Given the description of an element on the screen output the (x, y) to click on. 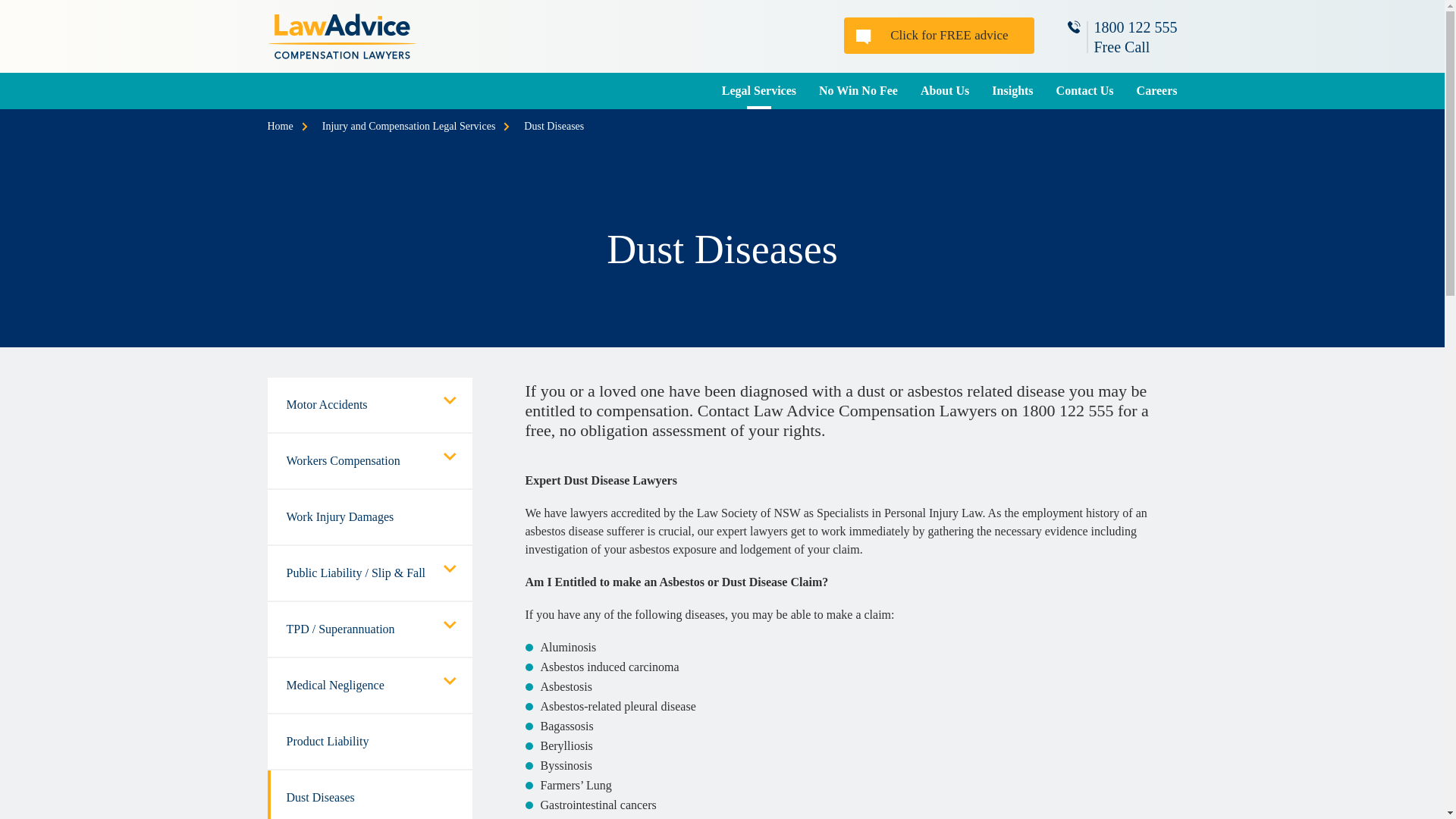
Injury and Compensation Legal Services (408, 125)
No Win No Fee (858, 90)
About Us (943, 90)
Careers (1151, 90)
1800 122 555 (1134, 27)
Dust Diseases (553, 125)
Free Call (1121, 46)
Insights (1011, 90)
Logo (340, 22)
Legal Services (759, 90)
Motor Accidents (368, 404)
Click for FREE advice (938, 35)
Contact Us (1085, 90)
Home (279, 125)
